Given the description of an element on the screen output the (x, y) to click on. 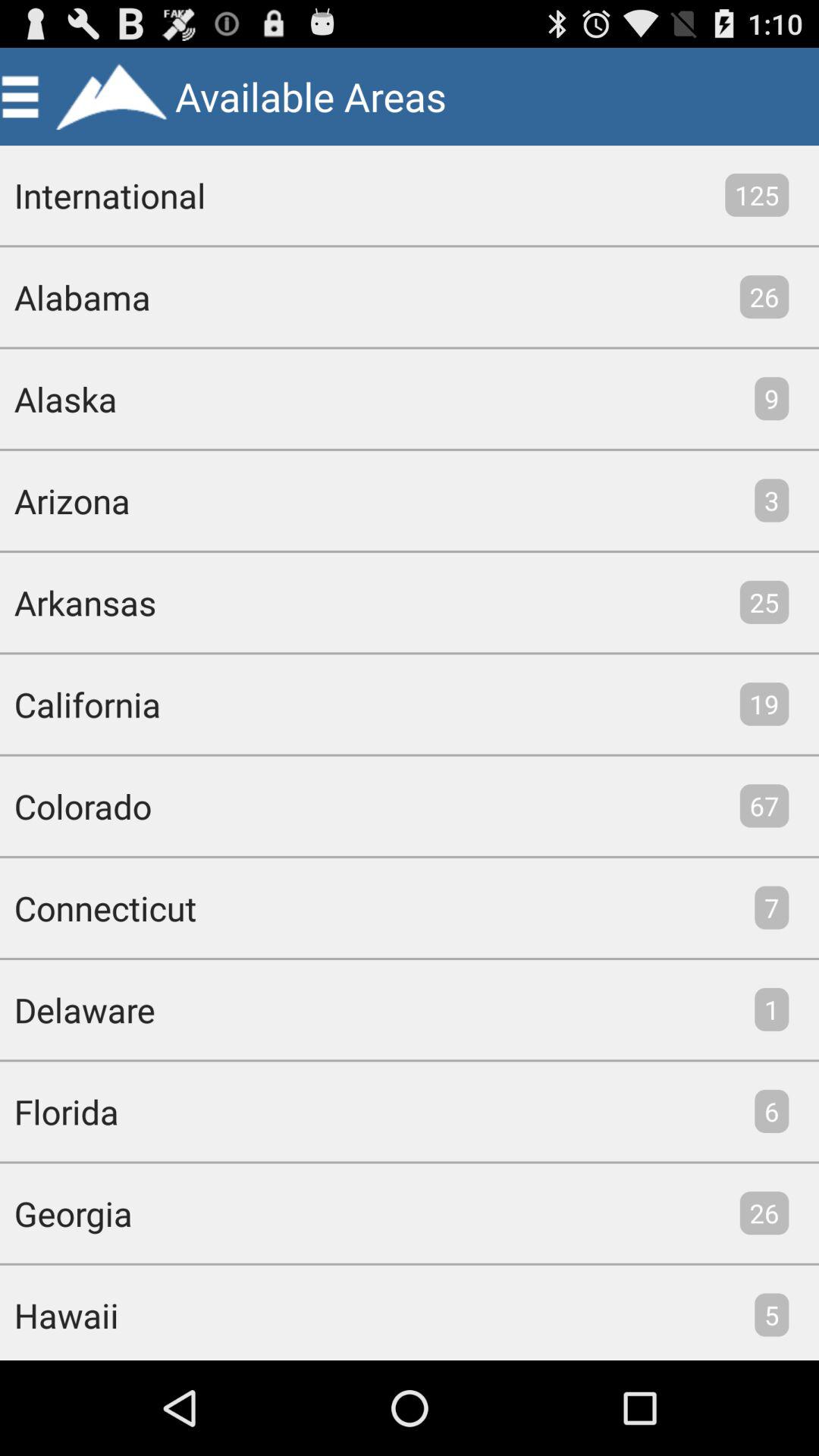
turn off the app above the 26 (756, 194)
